Given the description of an element on the screen output the (x, y) to click on. 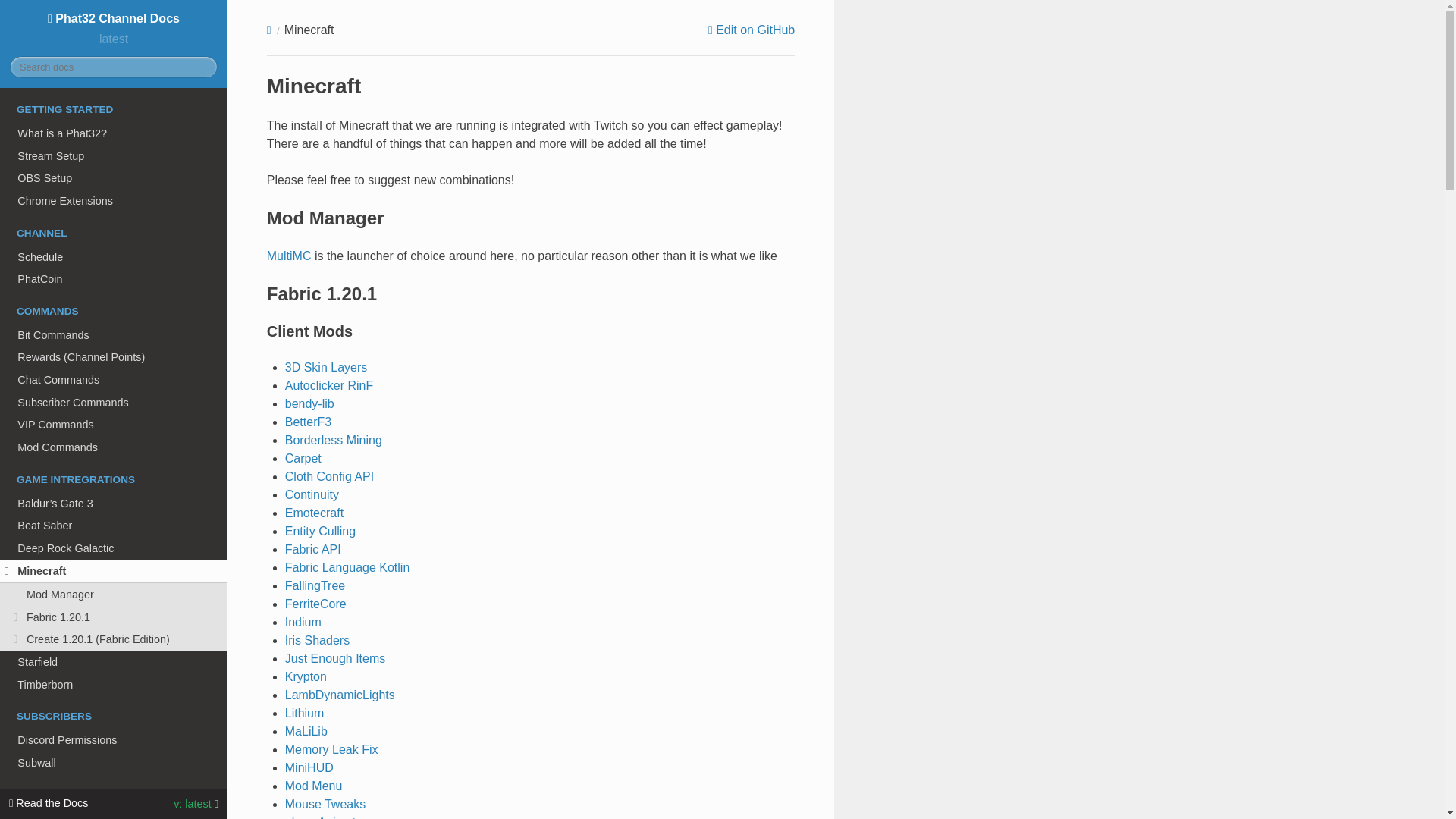
MultiMC (288, 255)
Chat Commands (113, 379)
Schedule (113, 256)
VIP Commands (113, 424)
Starfield (113, 661)
Mod Commands (113, 446)
Stream Setup (113, 155)
Bit Commands (113, 334)
PhatCoin (113, 278)
Discord Permissions (113, 739)
